Given the description of an element on the screen output the (x, y) to click on. 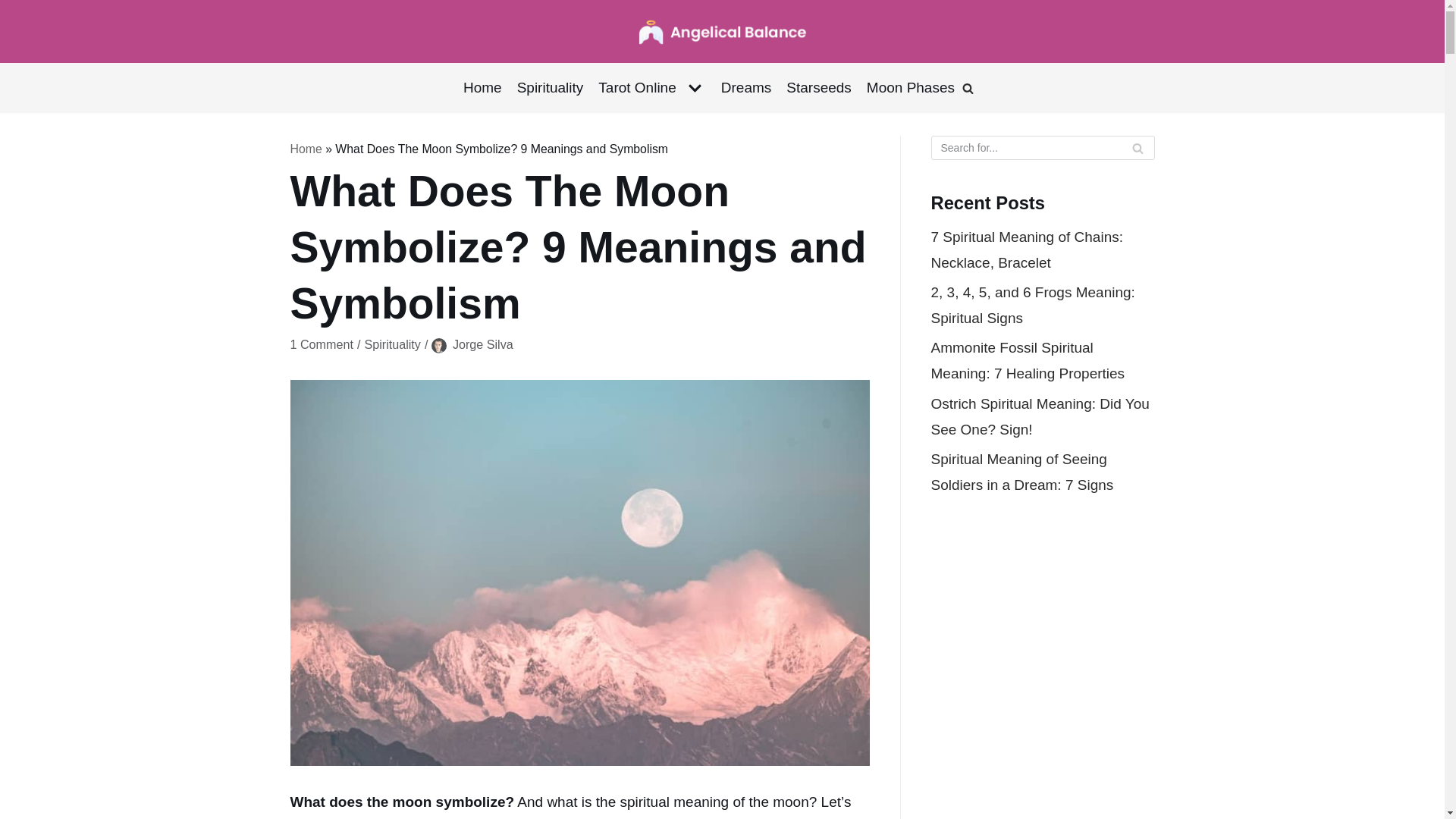
Starseeds (818, 87)
Home (482, 87)
Skip to content (15, 7)
Spirituality (549, 87)
Tarot Online (651, 87)
Moon Phases (910, 87)
Posts by Jorge Silva (482, 344)
Angelical Balance (721, 31)
Dreams (745, 87)
